Given the description of an element on the screen output the (x, y) to click on. 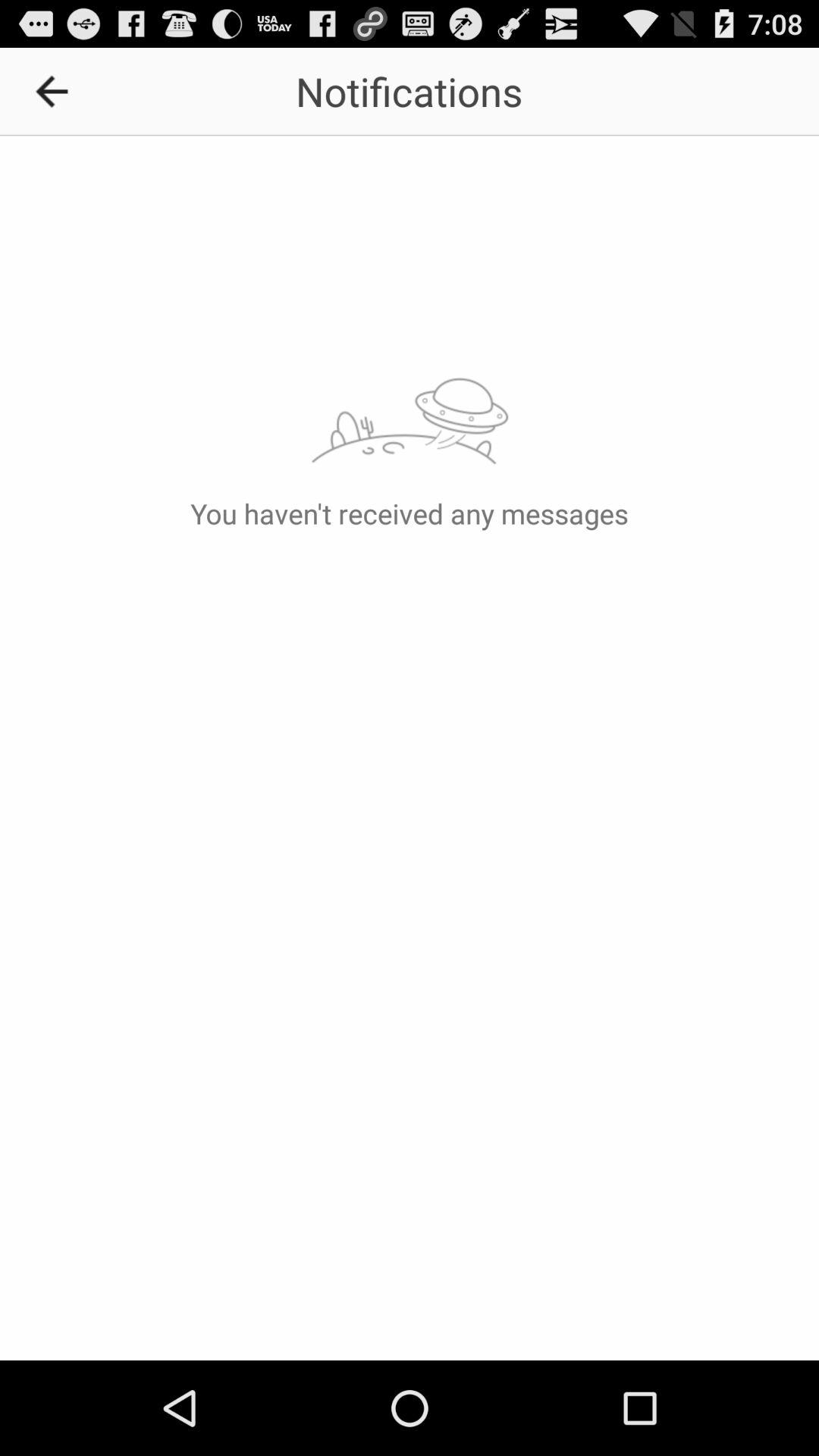
tap icon to the left of notifications icon (57, 91)
